Given the description of an element on the screen output the (x, y) to click on. 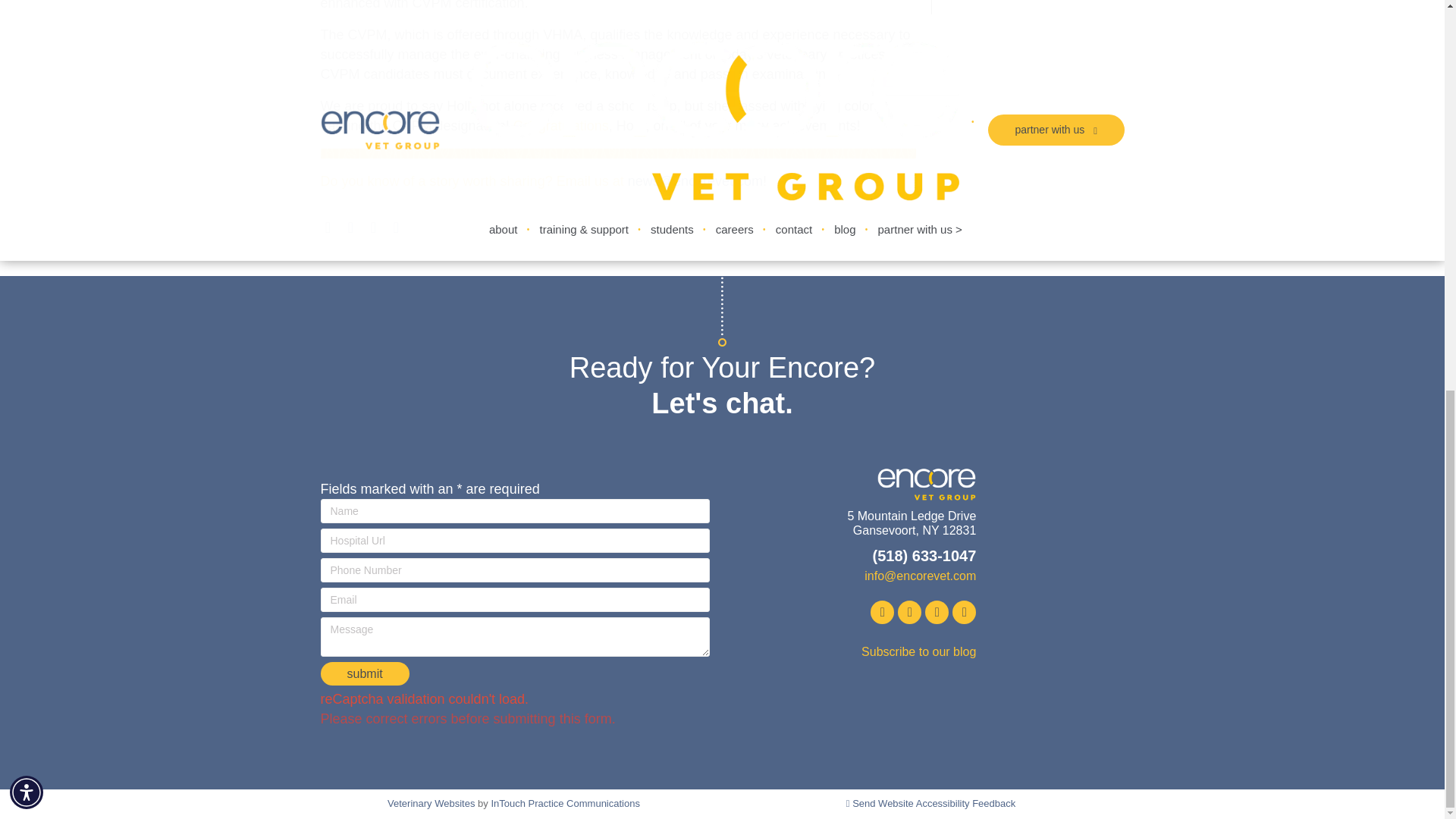
Accessibility Menu (26, 47)
submit (364, 673)
